Given the description of an element on the screen output the (x, y) to click on. 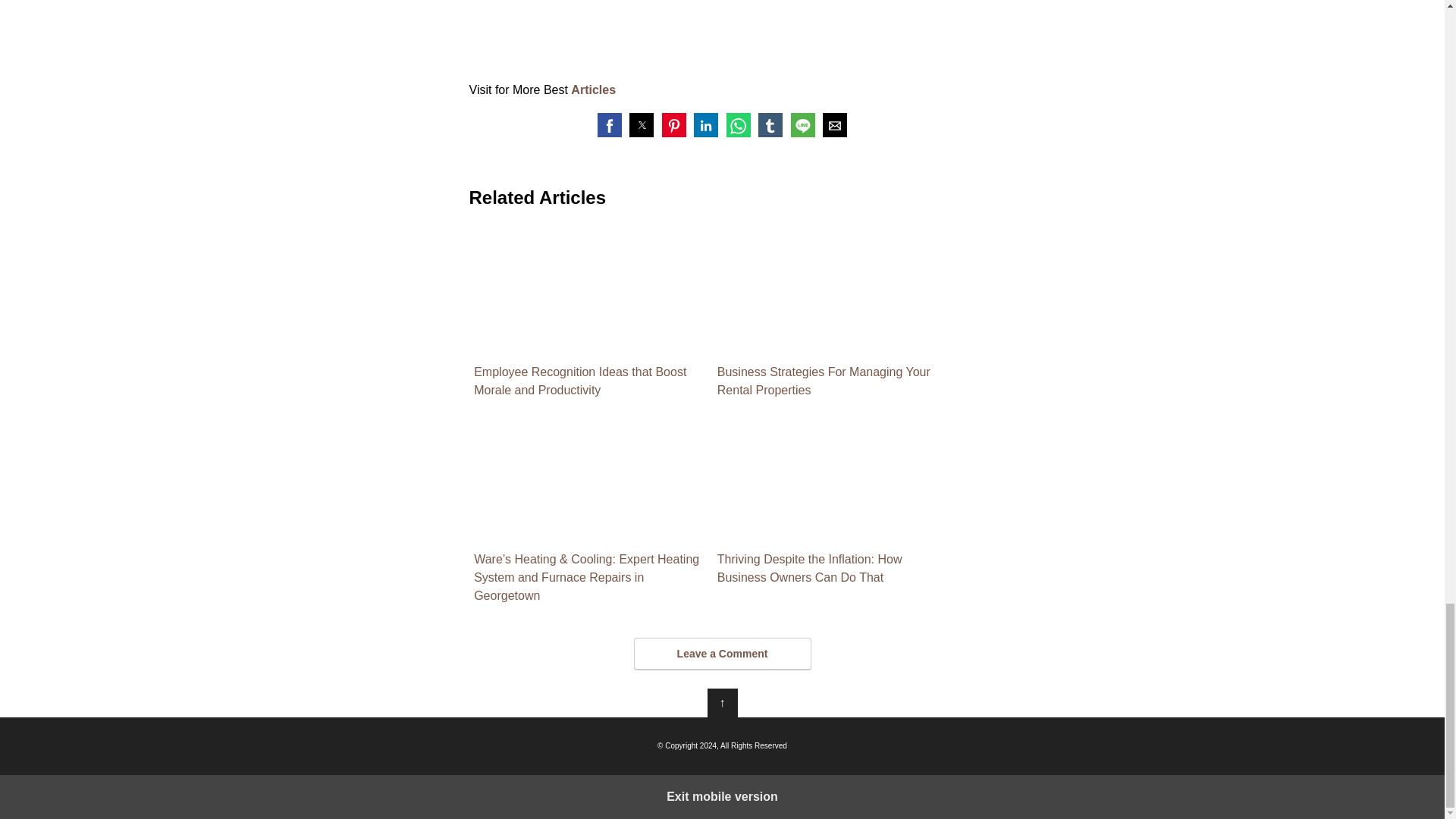
Articles (592, 89)
Leave a Comment (721, 654)
Business Strategies For Managing Your Rental Properties (833, 312)
